Given the description of an element on the screen output the (x, y) to click on. 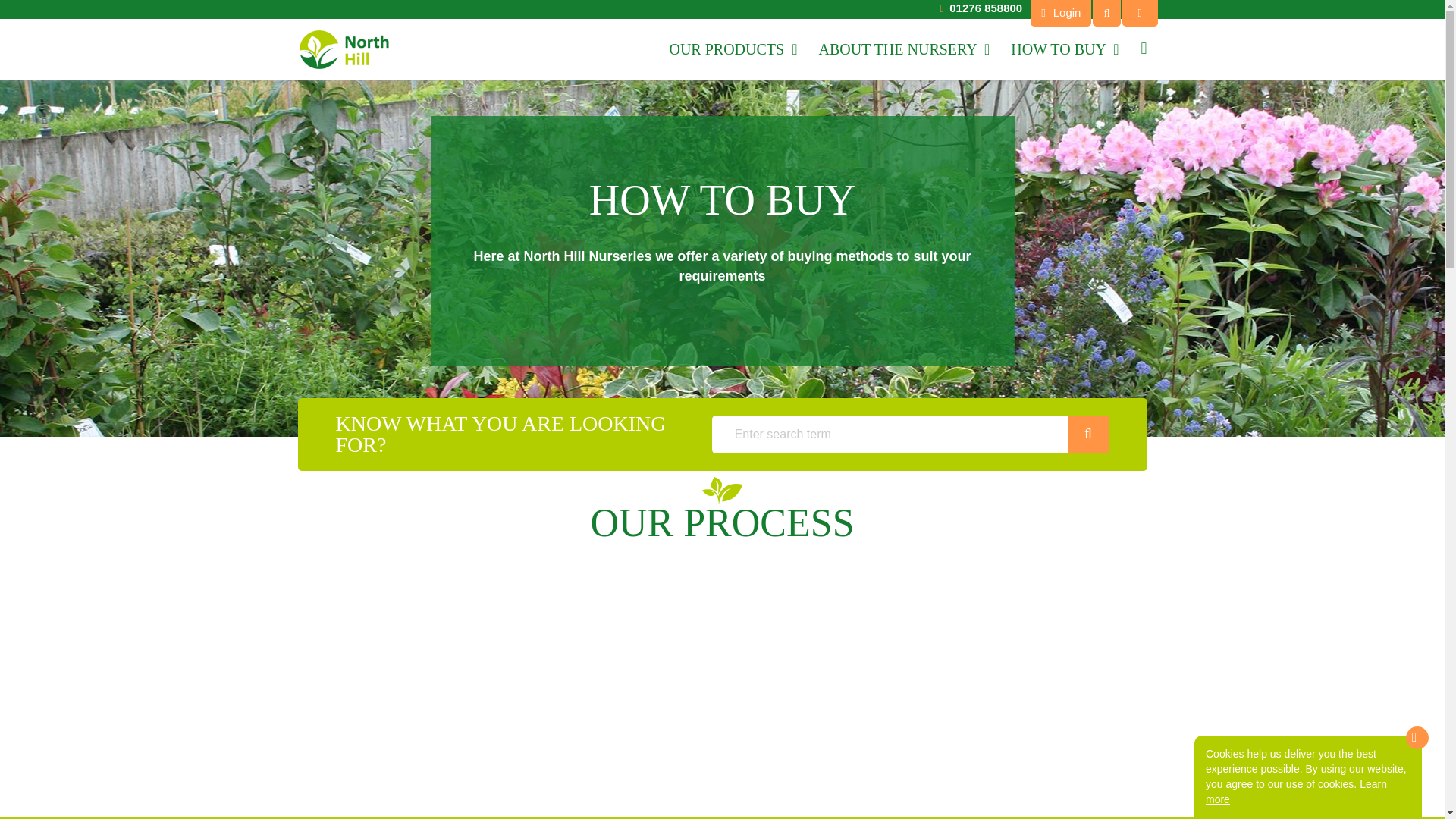
01276 858800 (985, 7)
Login (1060, 13)
OUR PRODUCTS (733, 48)
